Given the description of an element on the screen output the (x, y) to click on. 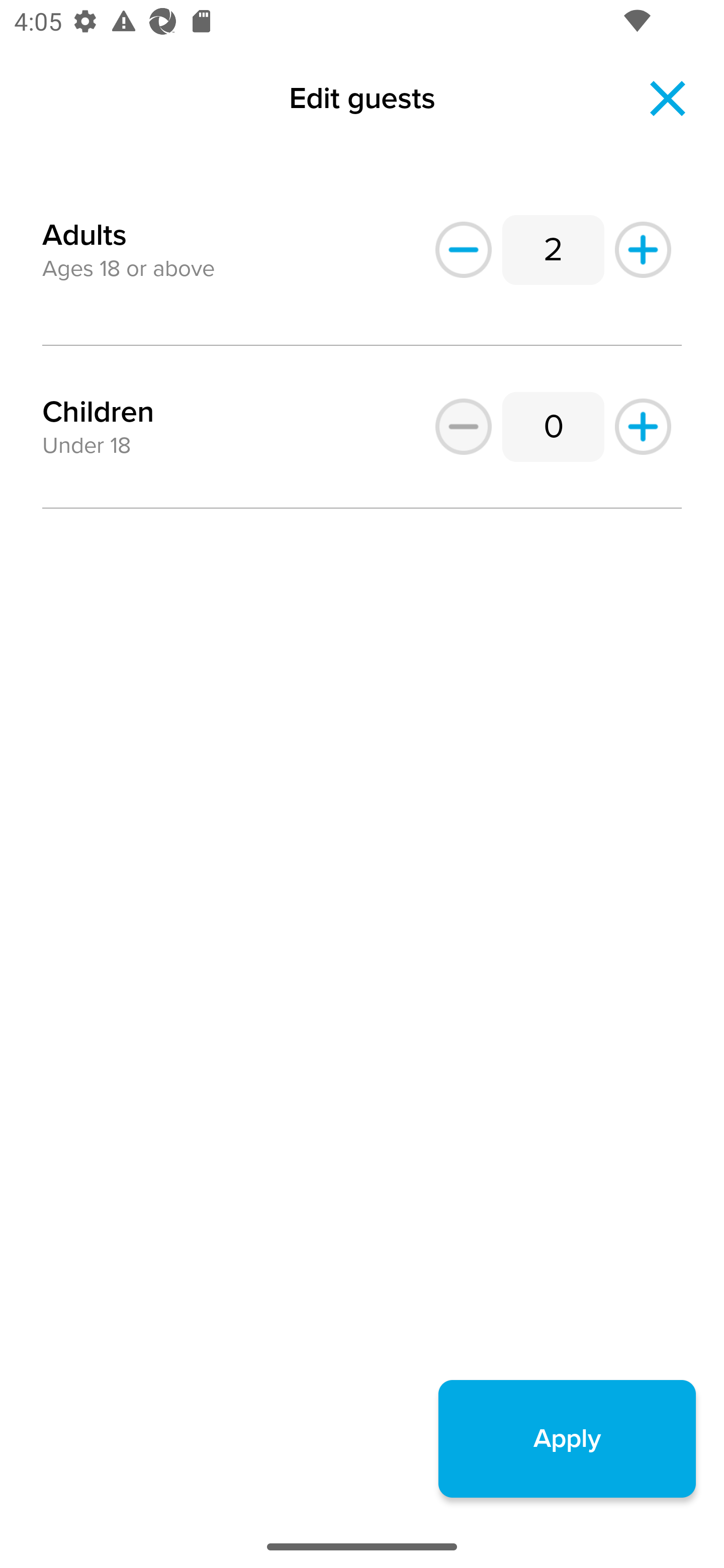
Adults (83, 223)
Children (97, 412)
Apply (566, 1438)
